Given the description of an element on the screen output the (x, y) to click on. 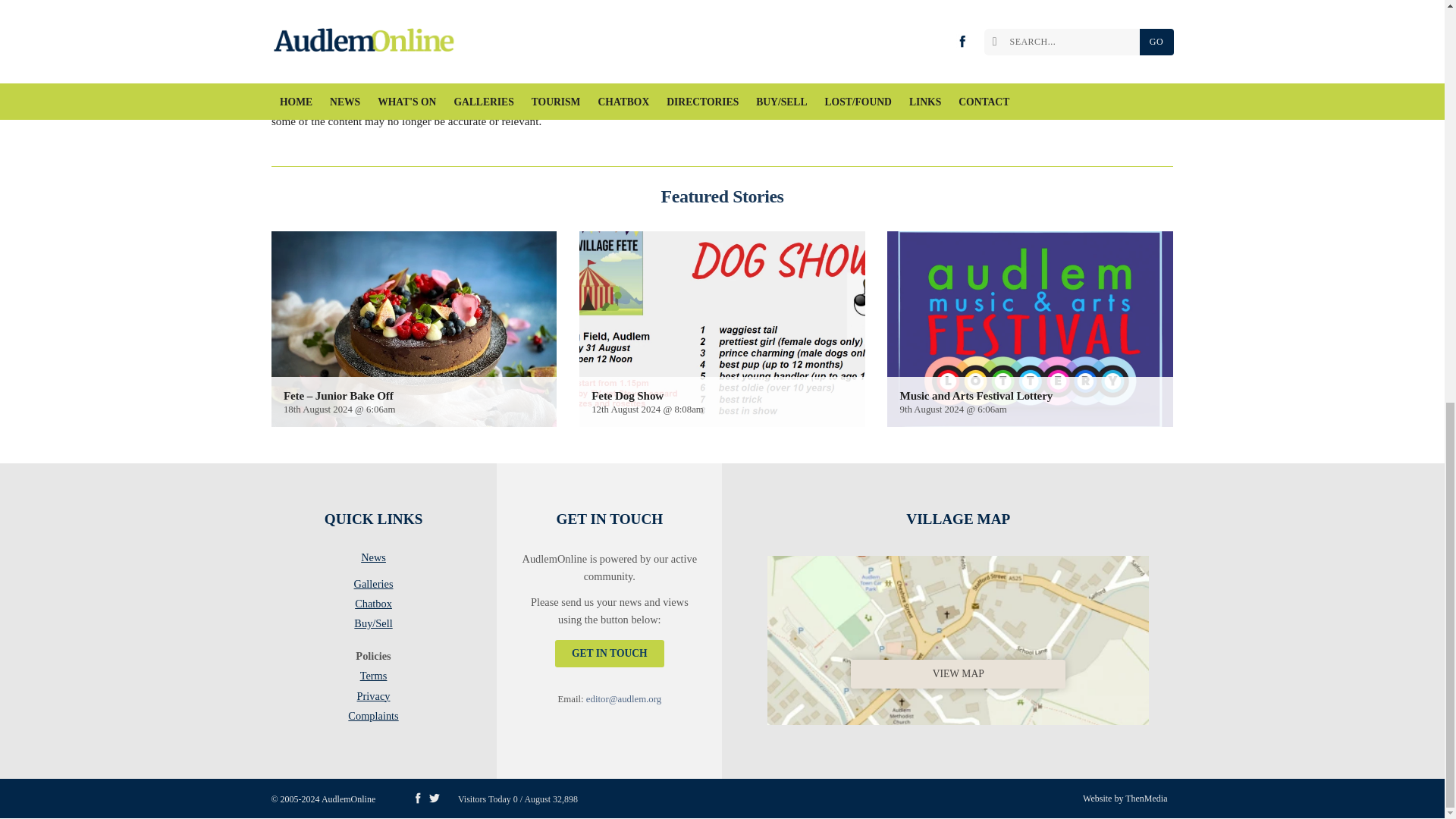
News (373, 560)
Visit our X Feed (434, 797)
Complaints (373, 715)
Privacy (373, 698)
Featured Stories (722, 196)
Chatbox (373, 606)
Visit our Facebook Page (417, 797)
VIEW MAP (957, 637)
Galleries (373, 587)
